Given the description of an element on the screen output the (x, y) to click on. 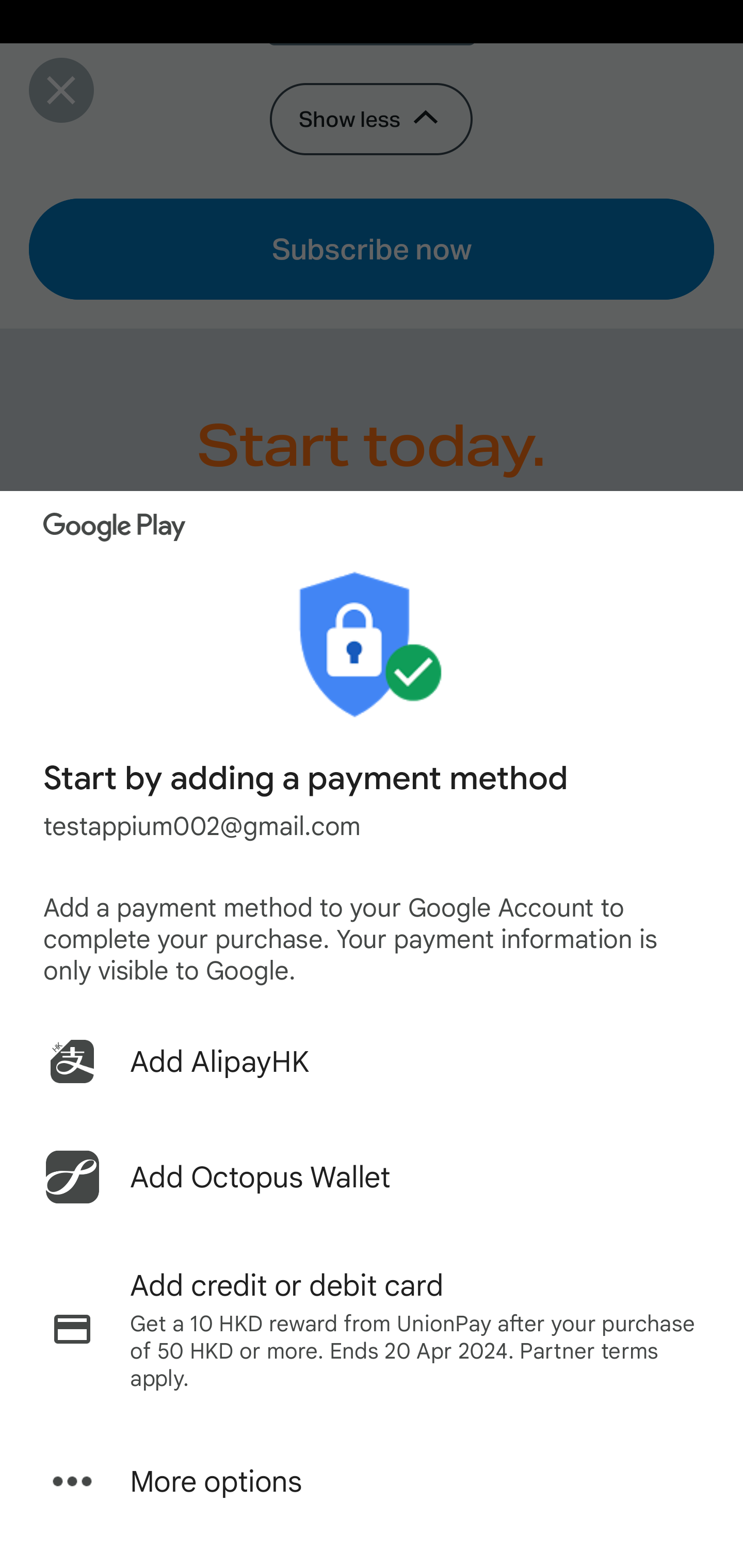
Add AlipayHK (371, 1061)
Add Octopus Wallet (371, 1177)
More options (371, 1481)
